Given the description of an element on the screen output the (x, y) to click on. 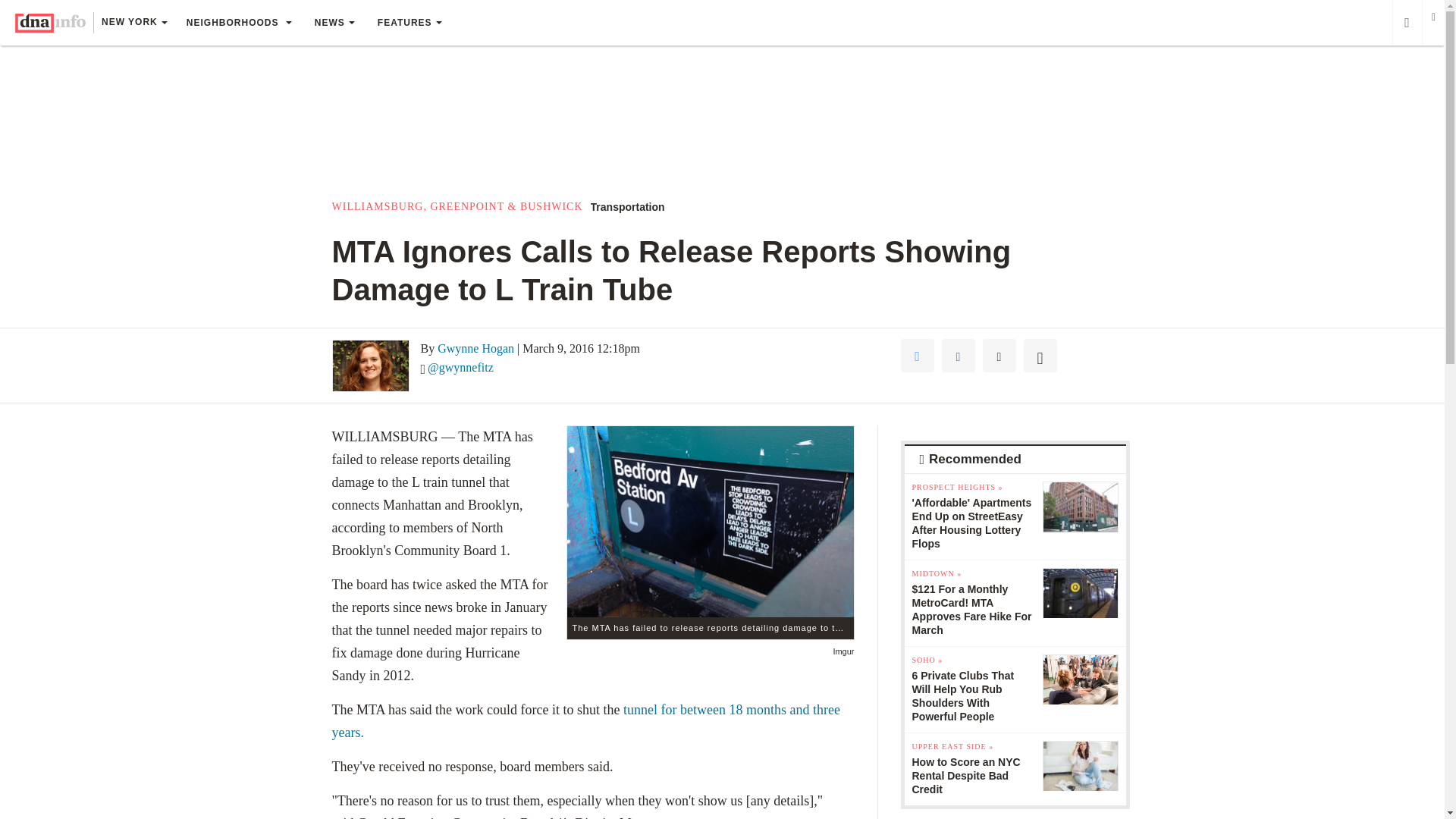
NEW YORK (133, 23)
NEIGHBORHOODS (238, 22)
New York - Home (49, 22)
NEWS (334, 22)
